Given the description of an element on the screen output the (x, y) to click on. 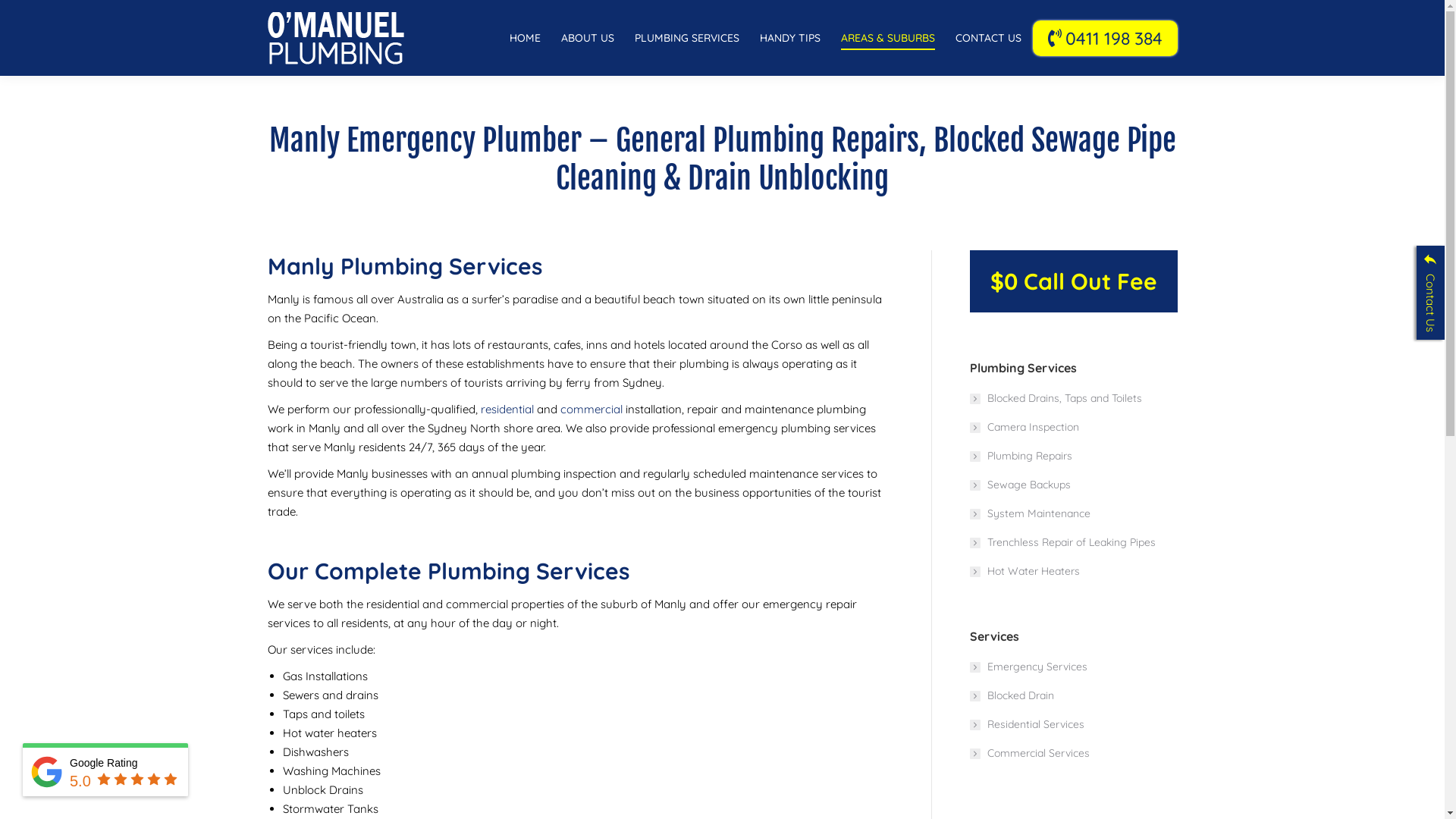
Plumbing Repairs Element type: text (1020, 455)
residential Element type: text (506, 408)
Blocked Drains, Taps and Toilets Element type: text (1055, 398)
Hot Water Heaters Element type: text (1024, 570)
PLUMBING SERVICES Element type: text (686, 37)
Camera Inspection Element type: text (1023, 426)
HOME Element type: text (525, 37)
commercial Element type: text (590, 408)
0411 198 384 Element type: text (1104, 37)
Blocked Drain Element type: text (1011, 695)
Trenchless Repair of Leaking Pipes Element type: text (1061, 542)
System Maintenance Element type: text (1029, 513)
Sewage Backups Element type: text (1019, 484)
Residential Services Element type: text (1026, 724)
Commercial Services Element type: text (1028, 752)
ABOUT US Element type: text (587, 37)
AREAS & SUBURBS Element type: text (886, 37)
Emergency Services Element type: text (1027, 666)
CONTACT US Element type: text (988, 37)
HANDY TIPS Element type: text (790, 37)
